Given the description of an element on the screen output the (x, y) to click on. 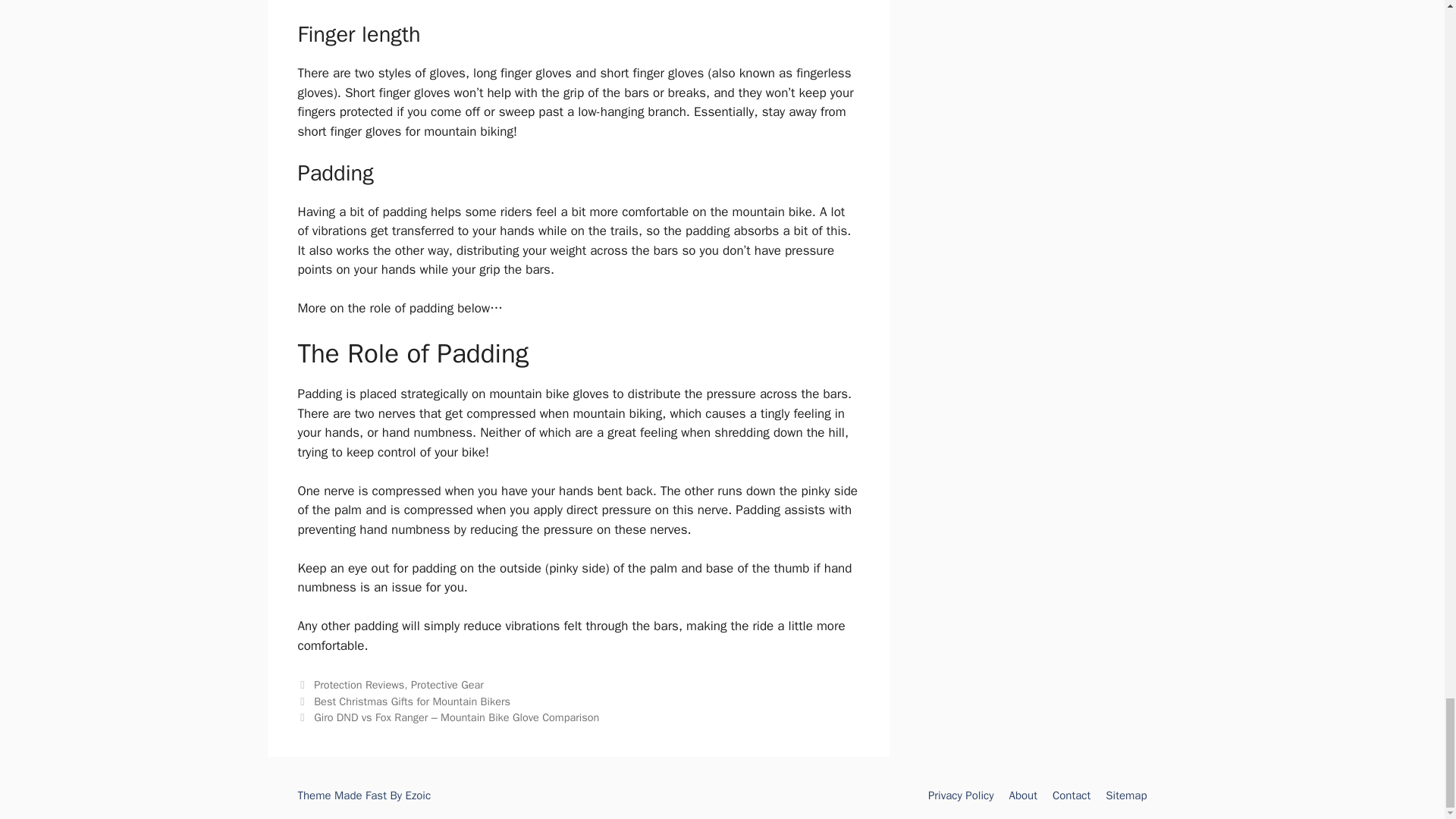
Best Christmas Gifts for Mountain Bikers (412, 701)
Protection Reviews (359, 684)
Protective Gear (446, 684)
